Given the description of an element on the screen output the (x, y) to click on. 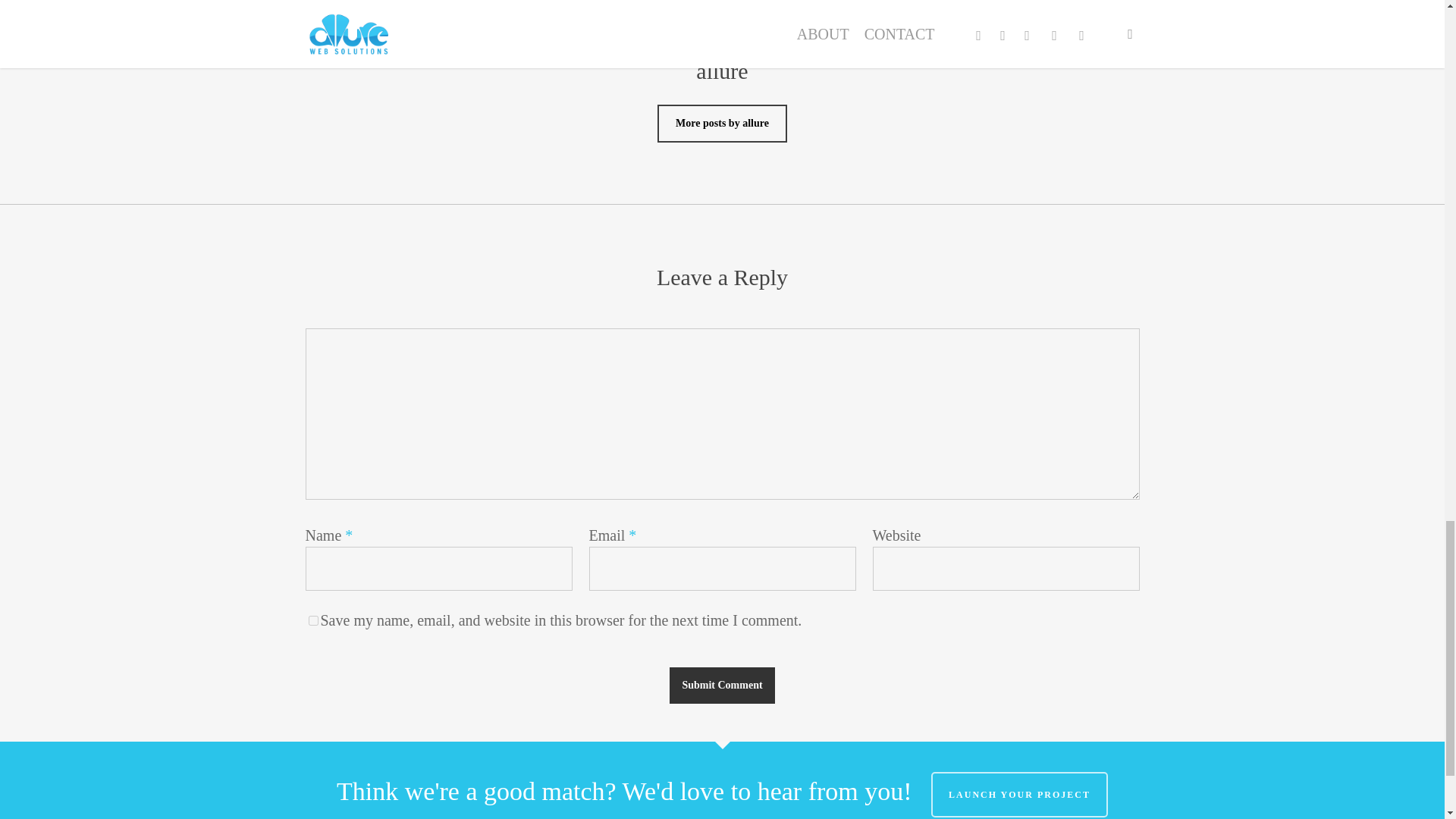
Submit Comment (721, 685)
yes (312, 620)
Submit Comment (721, 685)
More posts by allure (722, 123)
